Given the description of an element on the screen output the (x, y) to click on. 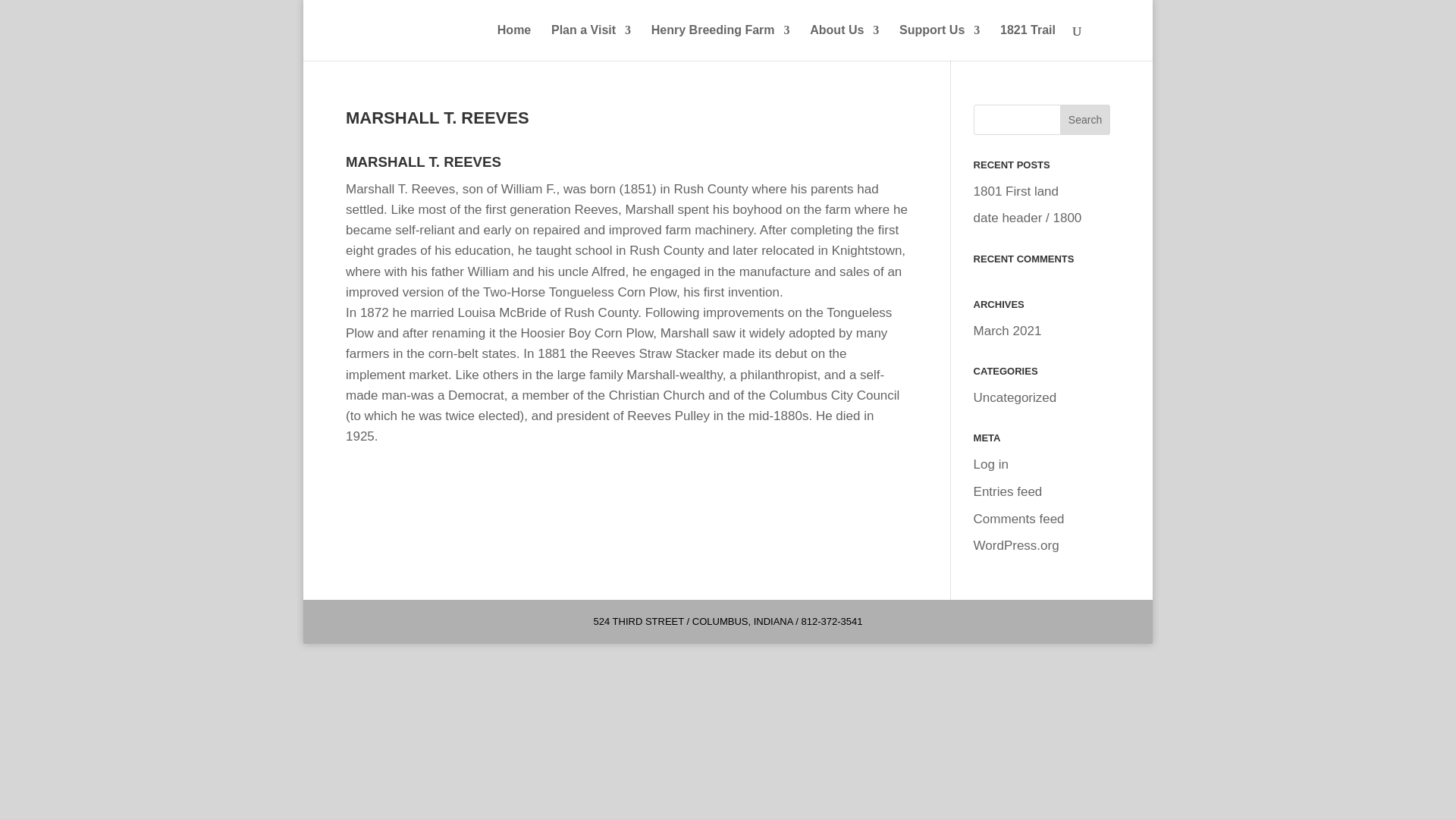
Henry Breeding Farm (720, 42)
Home (514, 42)
About Us (844, 42)
1821 Trail (1027, 42)
Search (1084, 119)
Plan a Visit (590, 42)
Support Us (939, 42)
